Given the description of an element on the screen output the (x, y) to click on. 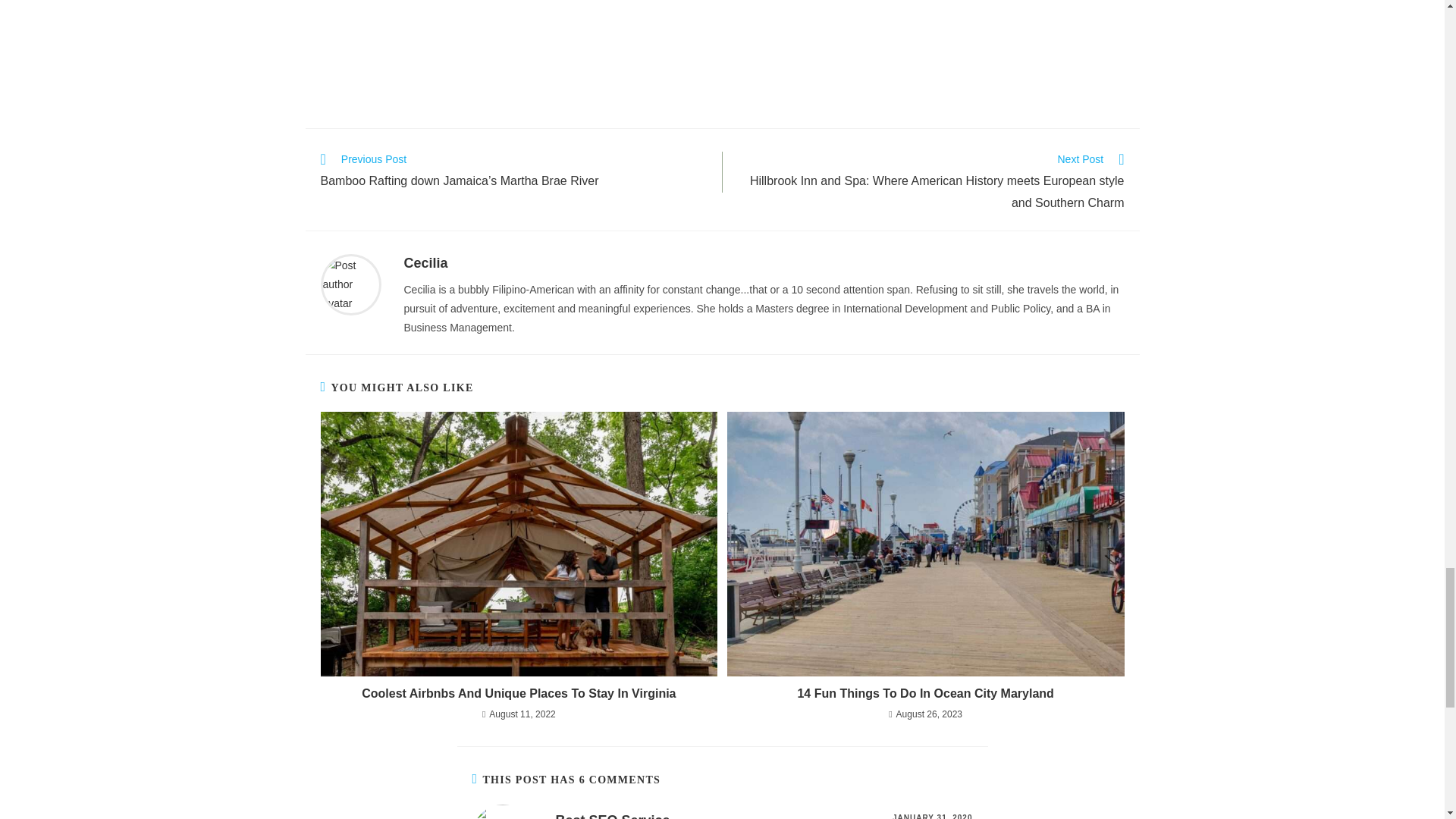
Visit author page (424, 263)
Visit author page (350, 283)
